Given the description of an element on the screen output the (x, y) to click on. 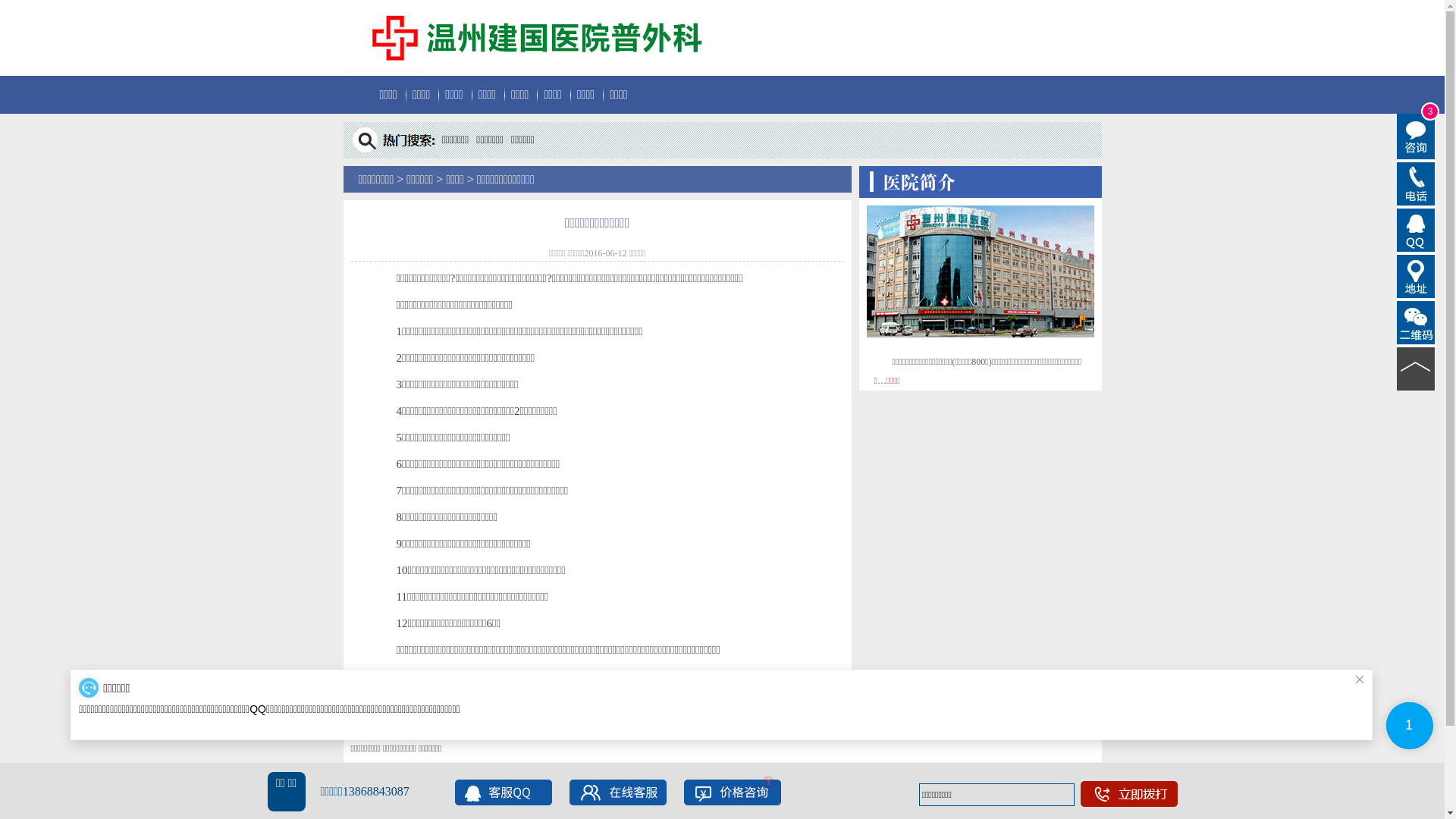
3 Element type: text (1415, 136)
